Given the description of an element on the screen output the (x, y) to click on. 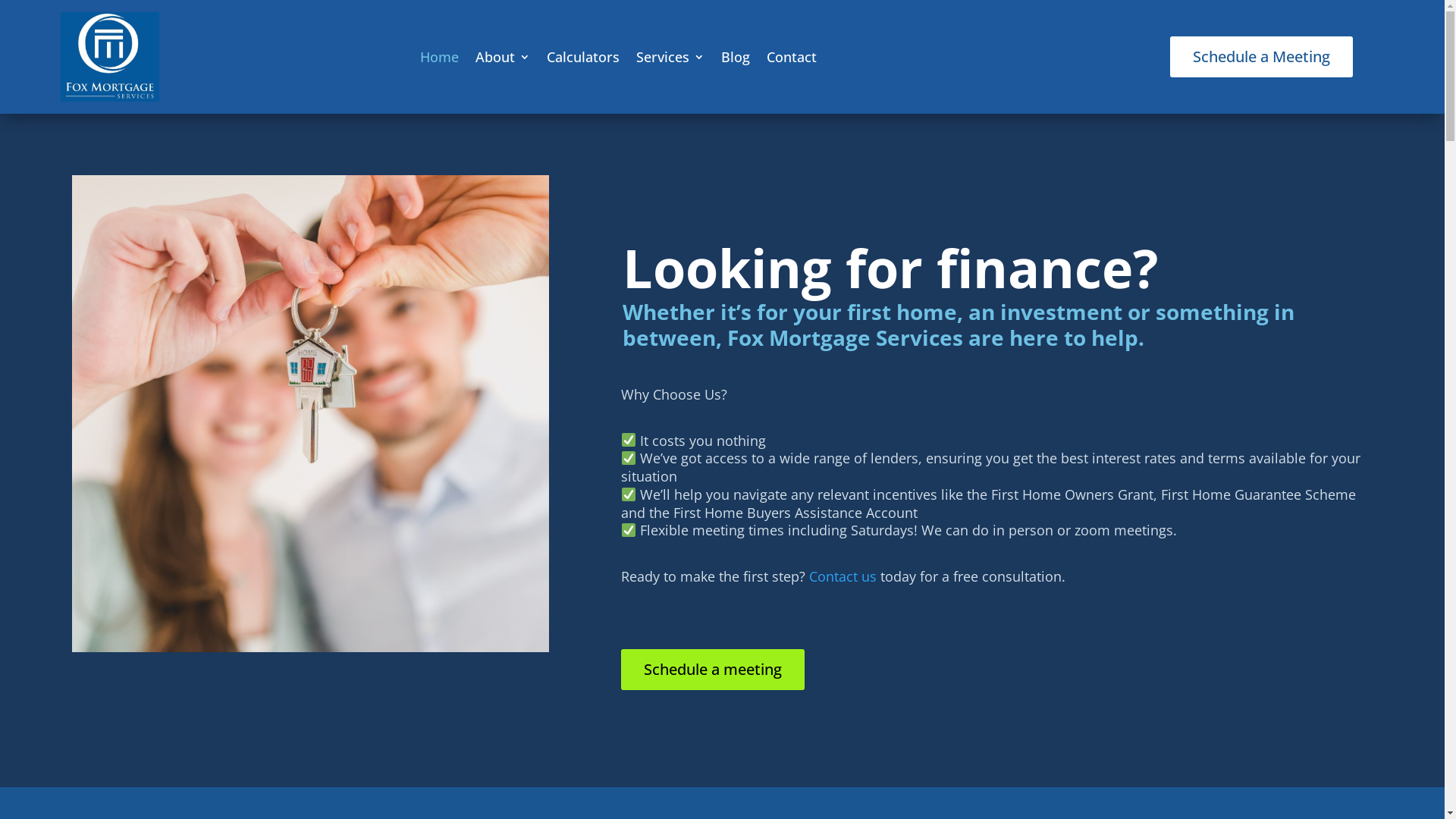
Schedule a Meeting Element type: text (1261, 56)
Blog Element type: text (735, 56)
Contact us Element type: text (842, 576)
Schedule a meeting Element type: text (712, 669)
Services Element type: text (670, 56)
About Element type: text (502, 56)
Contact Element type: text (791, 56)
pexels-rdne-stock-project-8293700 Element type: hover (310, 413)
Home Element type: text (439, 56)
Calculators Element type: text (582, 56)
